Given the description of an element on the screen output the (x, y) to click on. 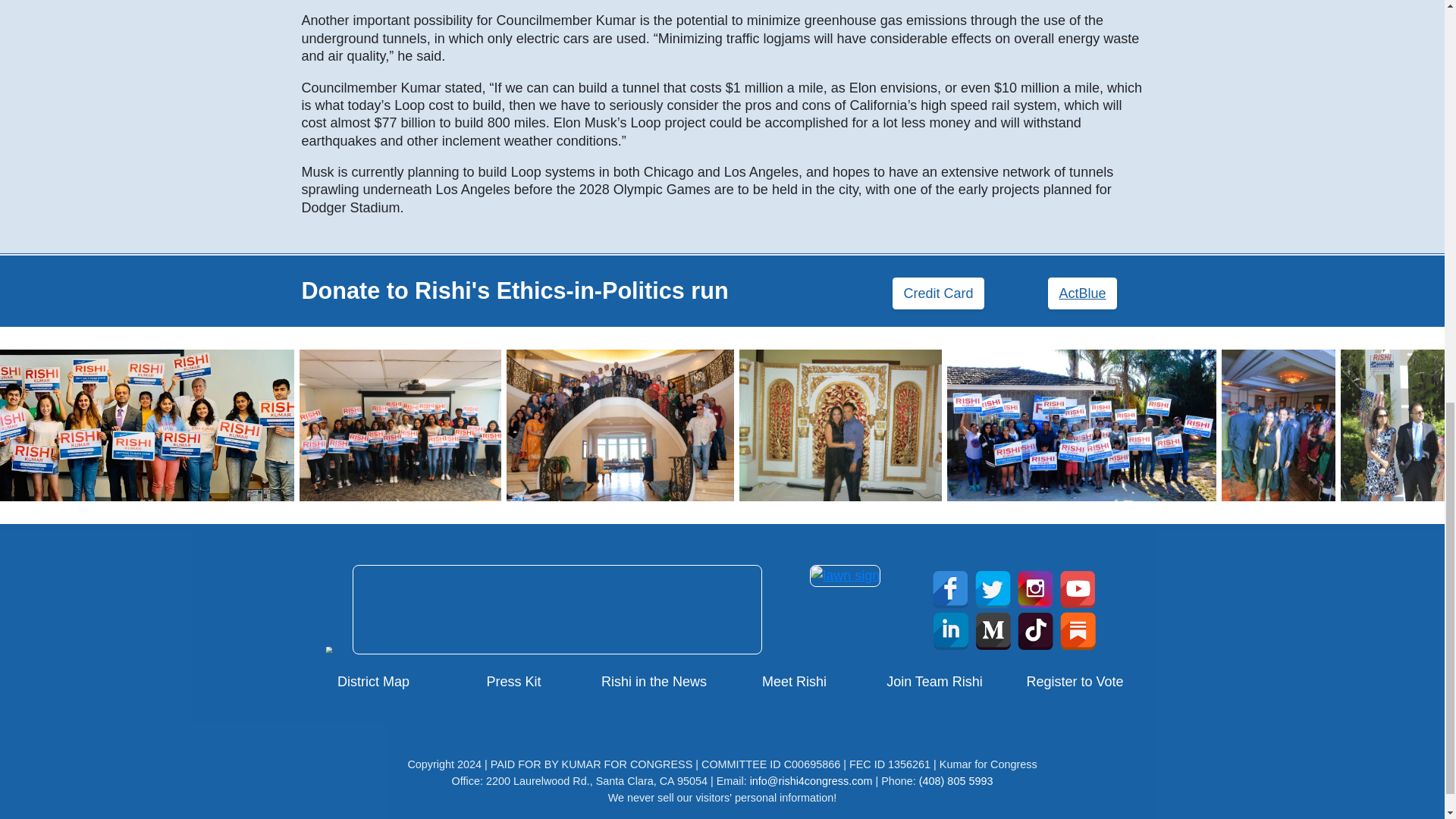
With Rishi Kumar. Click here! (1323, 71)
Credit Card (938, 293)
ActBlue (1082, 293)
